Given the description of an element on the screen output the (x, y) to click on. 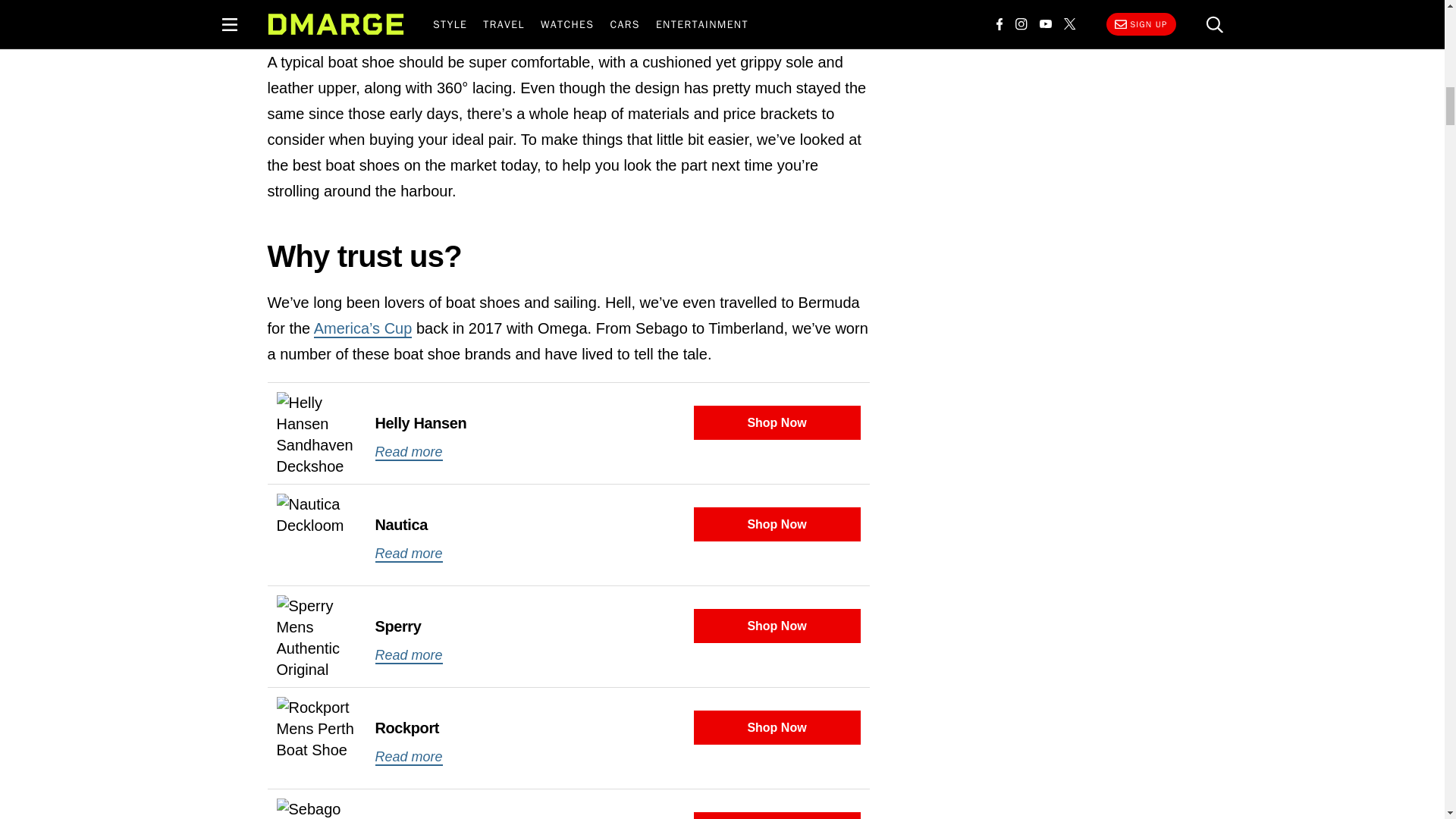
Read more about Helly Hansen (408, 452)
Read more about Nautica (408, 554)
Read more about Sperry (408, 655)
Read more about Rockport (408, 757)
